Given the description of an element on the screen output the (x, y) to click on. 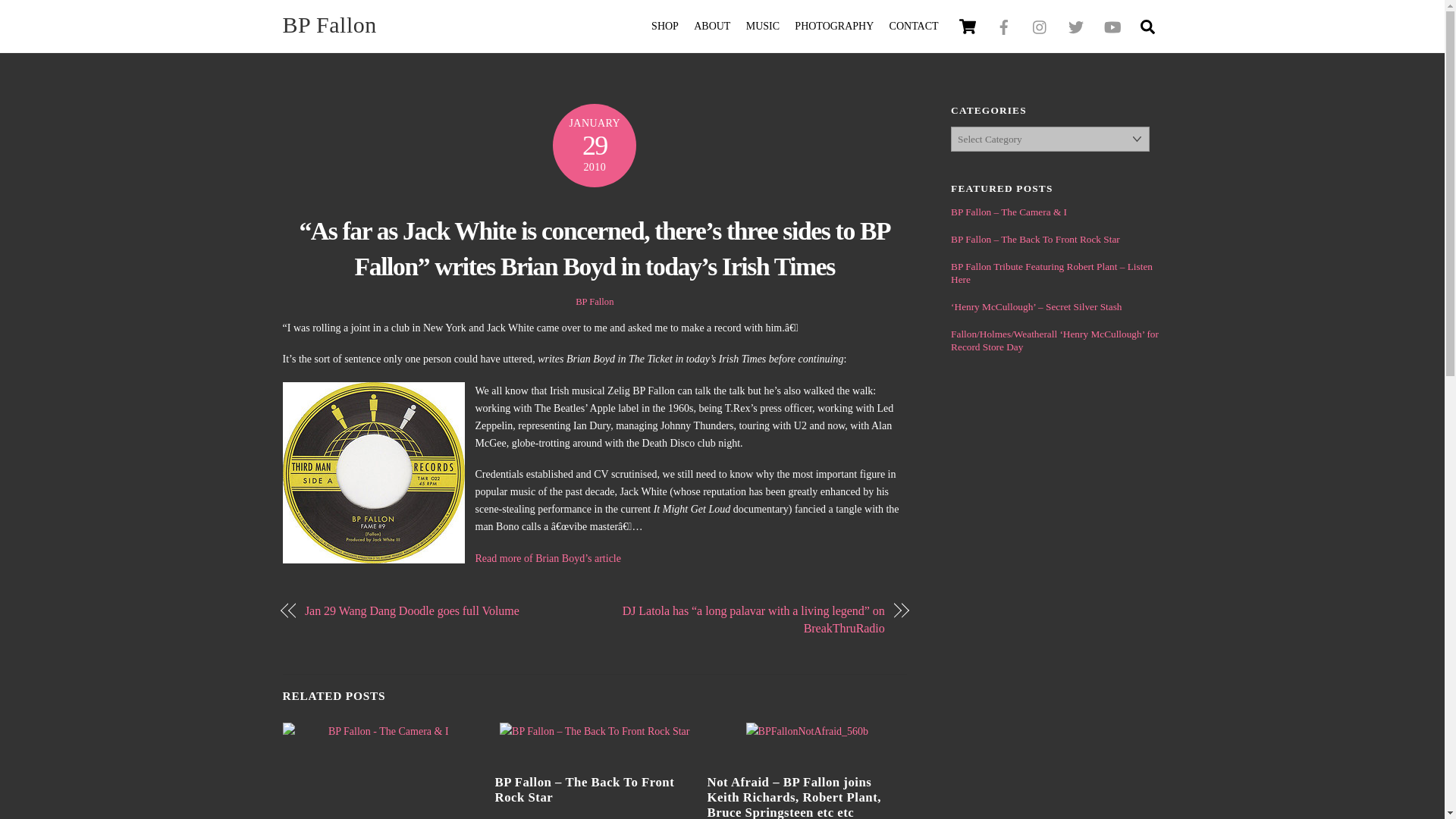
MUSIC (762, 26)
Jan 29 Wang Dang Doodle goes full Volume (440, 610)
SHOP (665, 26)
ABOUT (711, 26)
BP Fallon (328, 24)
PHOTOGRAPHY (834, 26)
BP Fallon (328, 24)
Search (1146, 25)
BP Fallon (721, 25)
